Given the description of an element on the screen output the (x, y) to click on. 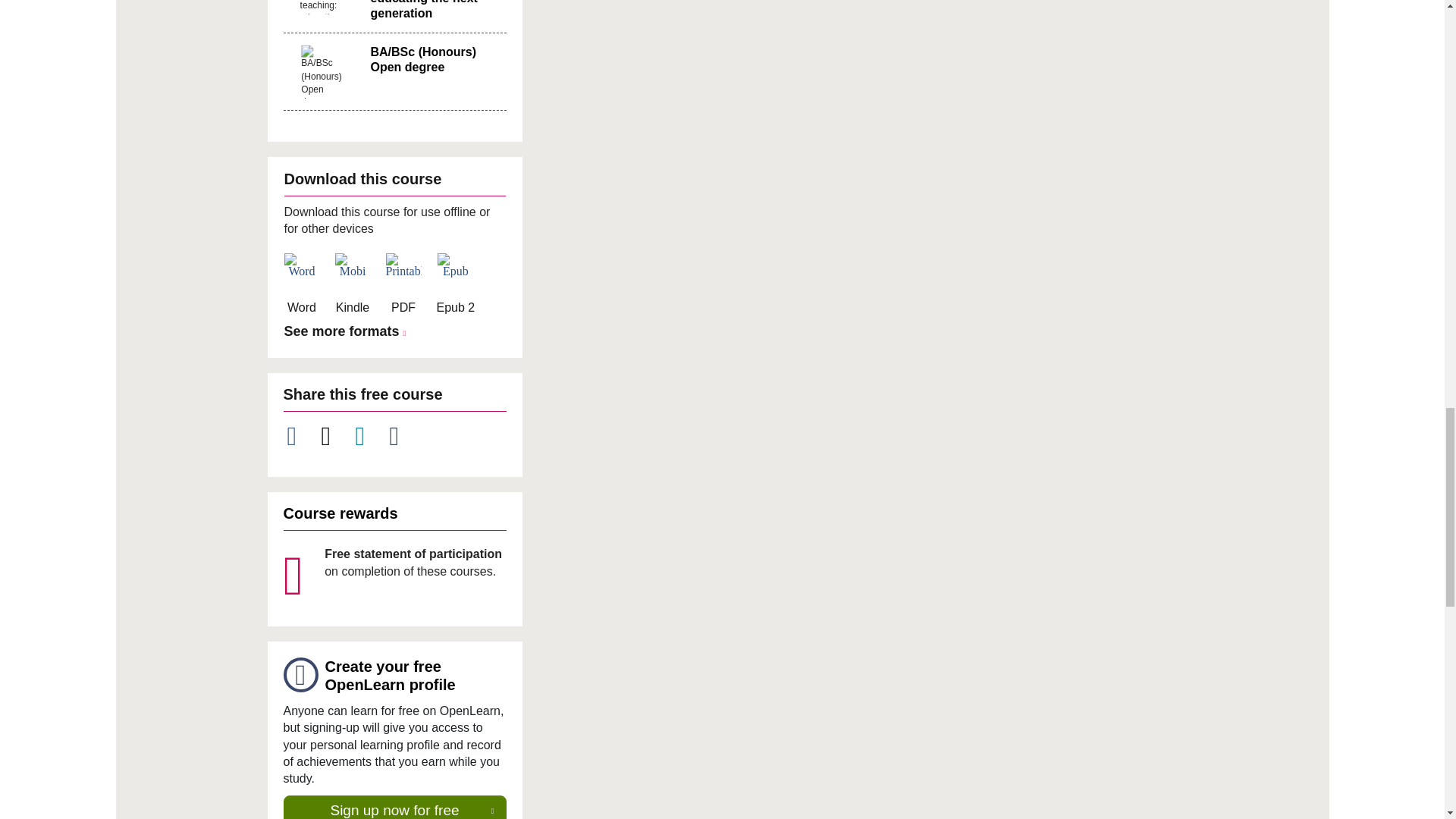
See more formats (347, 331)
Sign up now for free (394, 807)
Share on LinkedIn (368, 436)
Share via Email (403, 436)
Share on Facebook (299, 436)
Share on Twitter (334, 436)
